Given the description of an element on the screen output the (x, y) to click on. 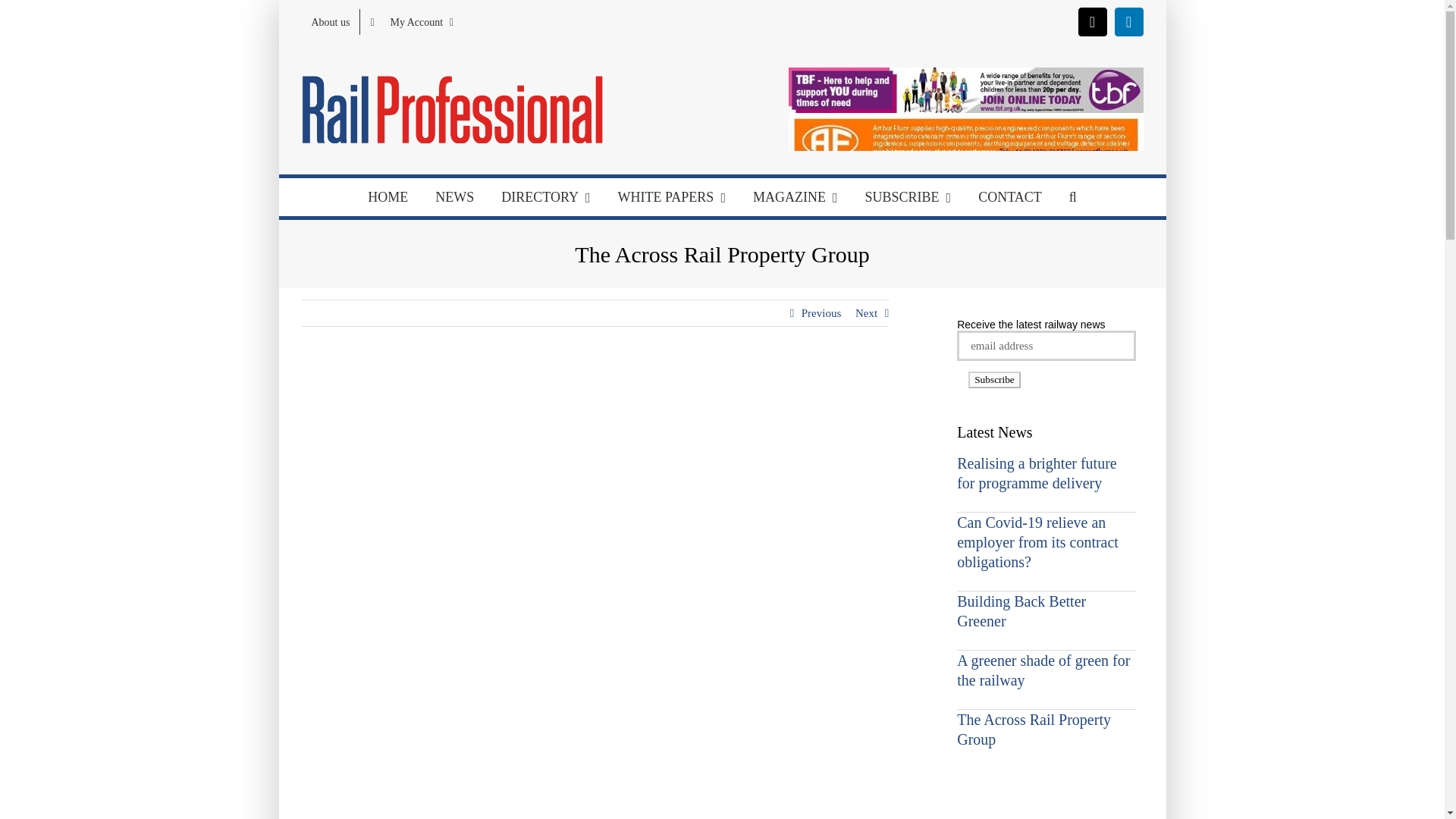
DIRECTORY (545, 197)
MAGAZINE (795, 197)
Subscribe (994, 379)
X (1092, 21)
NEWS (454, 197)
LinkedIn (1128, 21)
My Account (411, 22)
SUBSCRIBE (908, 197)
X (1092, 21)
LinkedIn (1128, 21)
